Given the description of an element on the screen output the (x, y) to click on. 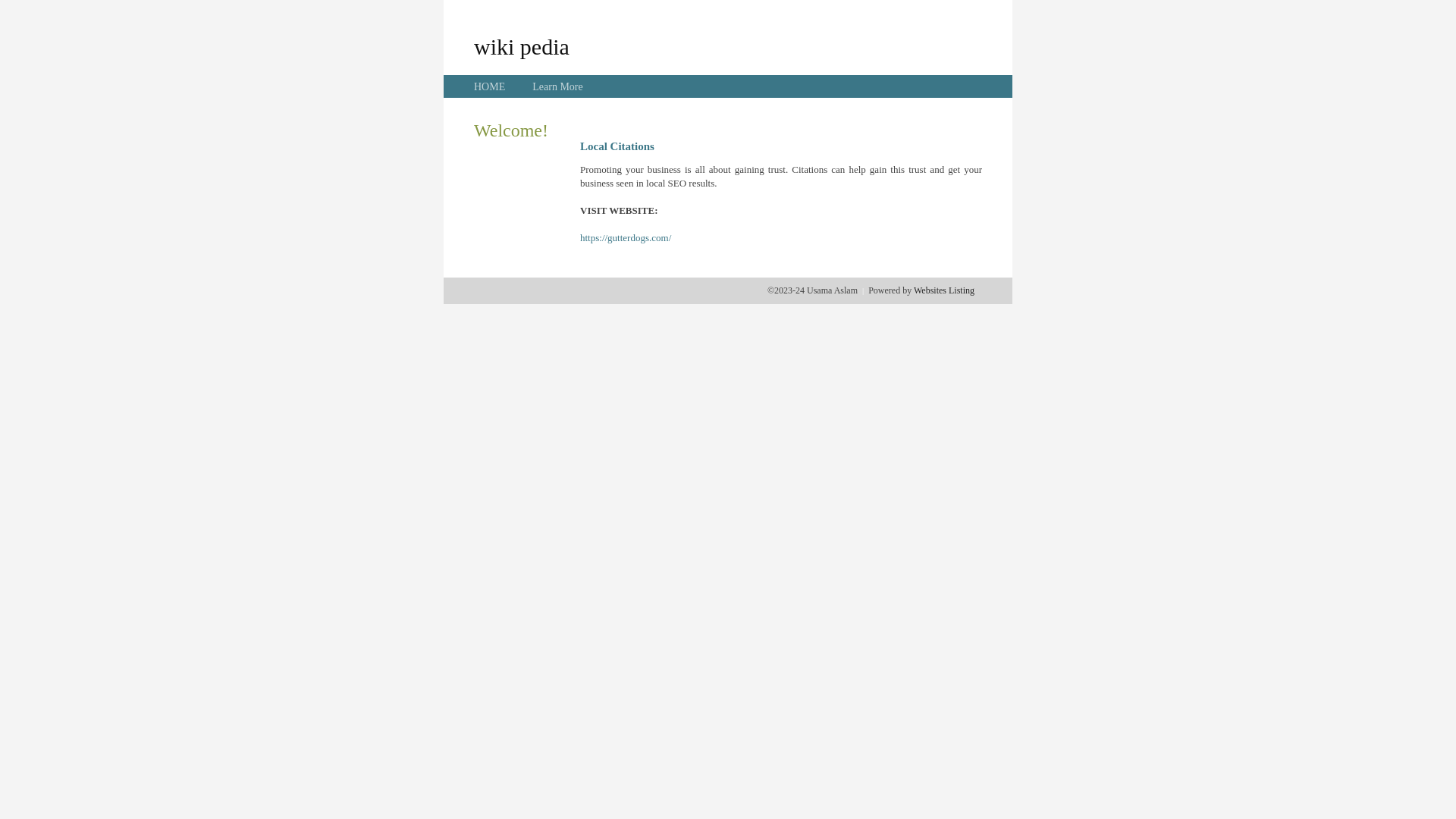
Learn More Element type: text (557, 86)
https://gutterdogs.com/ Element type: text (625, 237)
HOME Element type: text (489, 86)
Websites Listing Element type: text (943, 290)
wiki pedia Element type: text (521, 46)
